Given the description of an element on the screen output the (x, y) to click on. 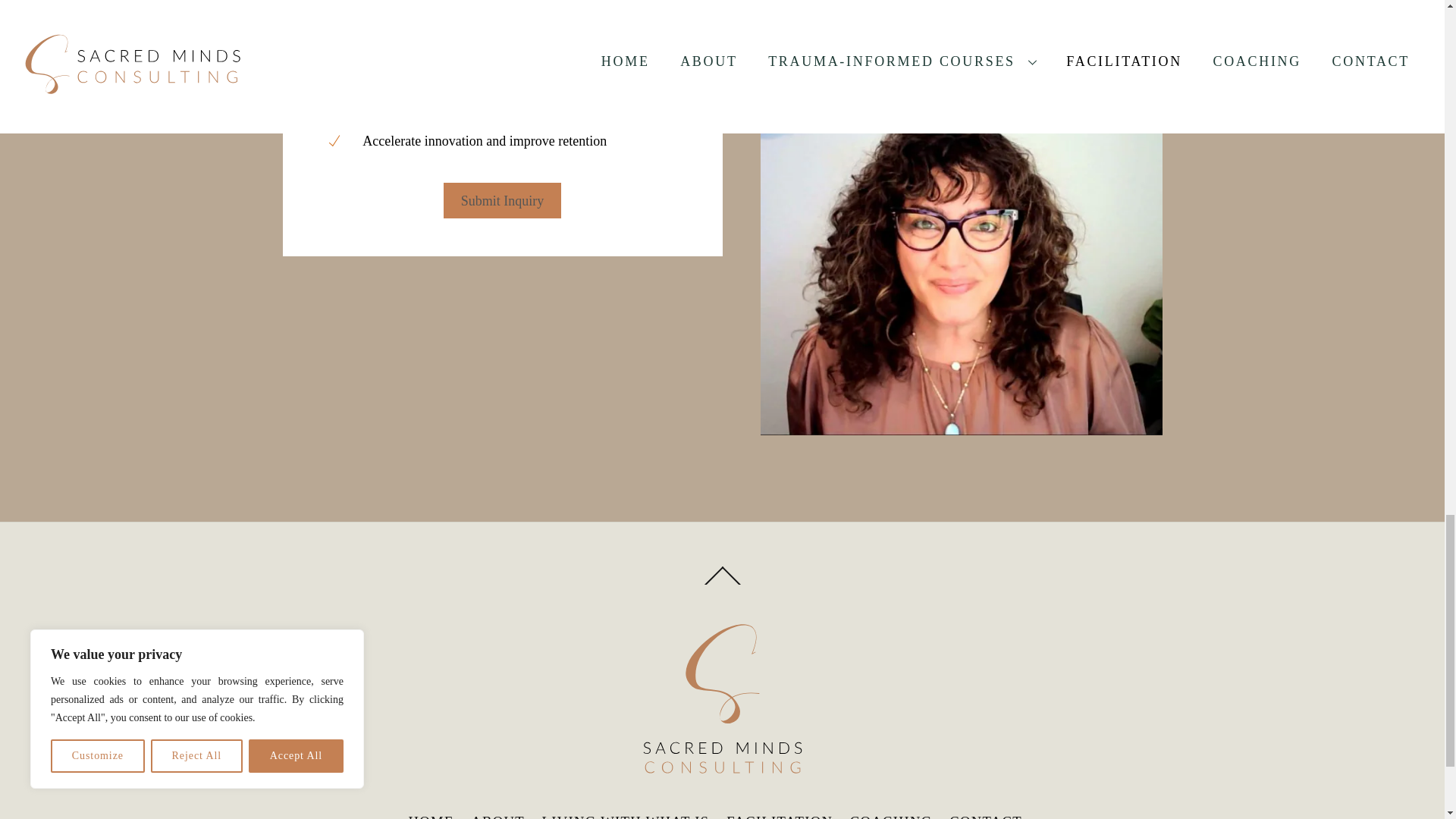
Submit Inquiry (502, 200)
COACHING (891, 816)
FACILITATION (779, 816)
LIVING WITH WHAT IS (625, 816)
HOME (431, 816)
CONTACT (985, 816)
Sacred Minds Consulting (721, 777)
ABOUT (497, 816)
